Given the description of an element on the screen output the (x, y) to click on. 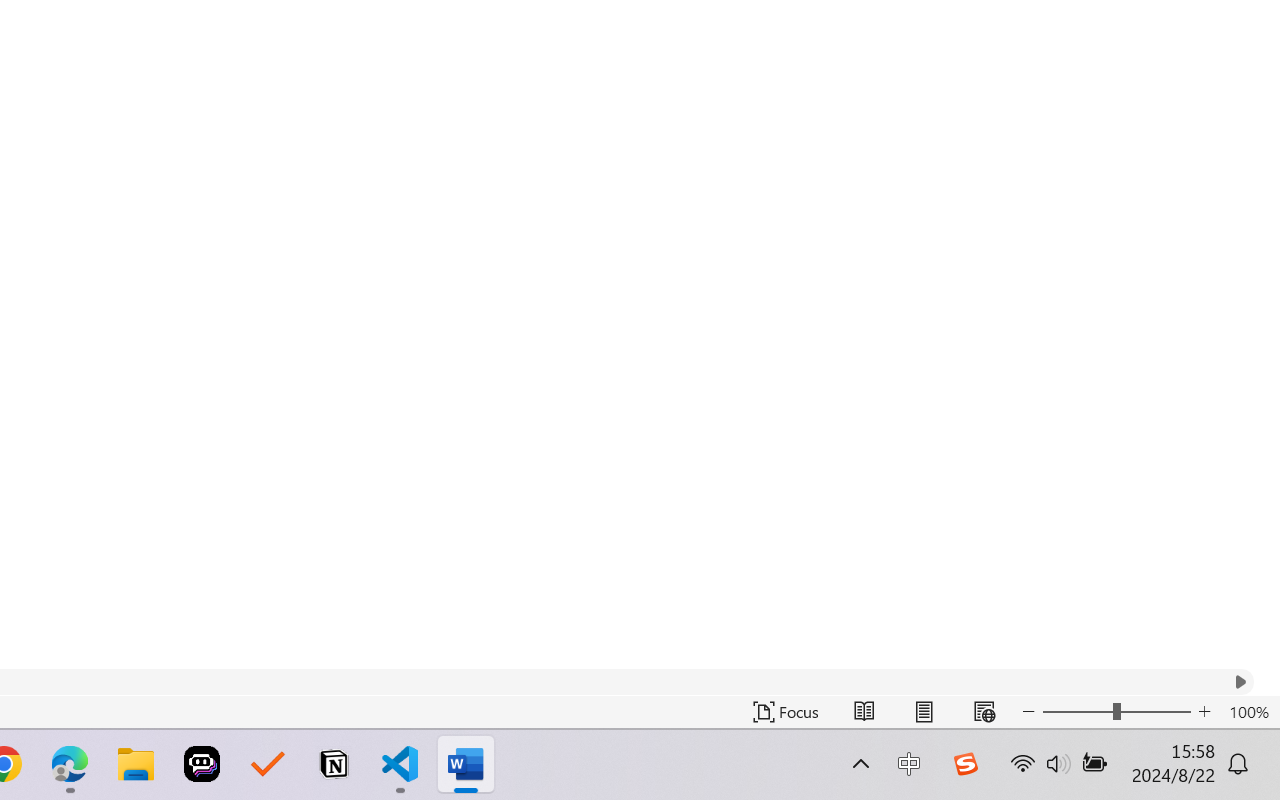
Zoom (1116, 712)
Print Layout (924, 712)
Zoom In (1204, 712)
Zoom Out (1077, 712)
Focus  (786, 712)
Class: Image (965, 764)
Zoom 100% (1249, 712)
Read Mode (864, 712)
Column right (1240, 681)
Web Layout (984, 712)
